Given the description of an element on the screen output the (x, y) to click on. 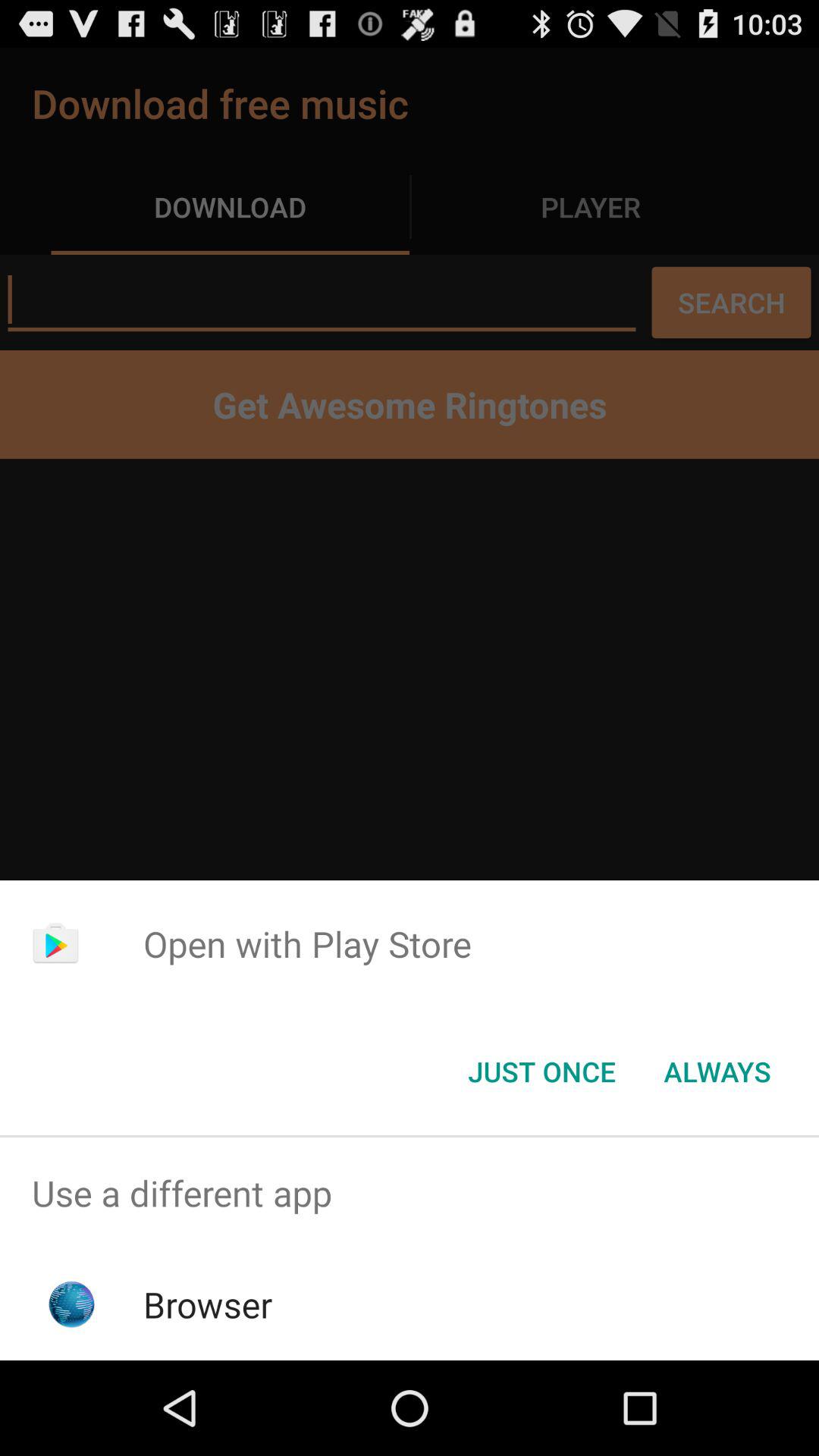
choose the browser icon (207, 1304)
